Given the description of an element on the screen output the (x, y) to click on. 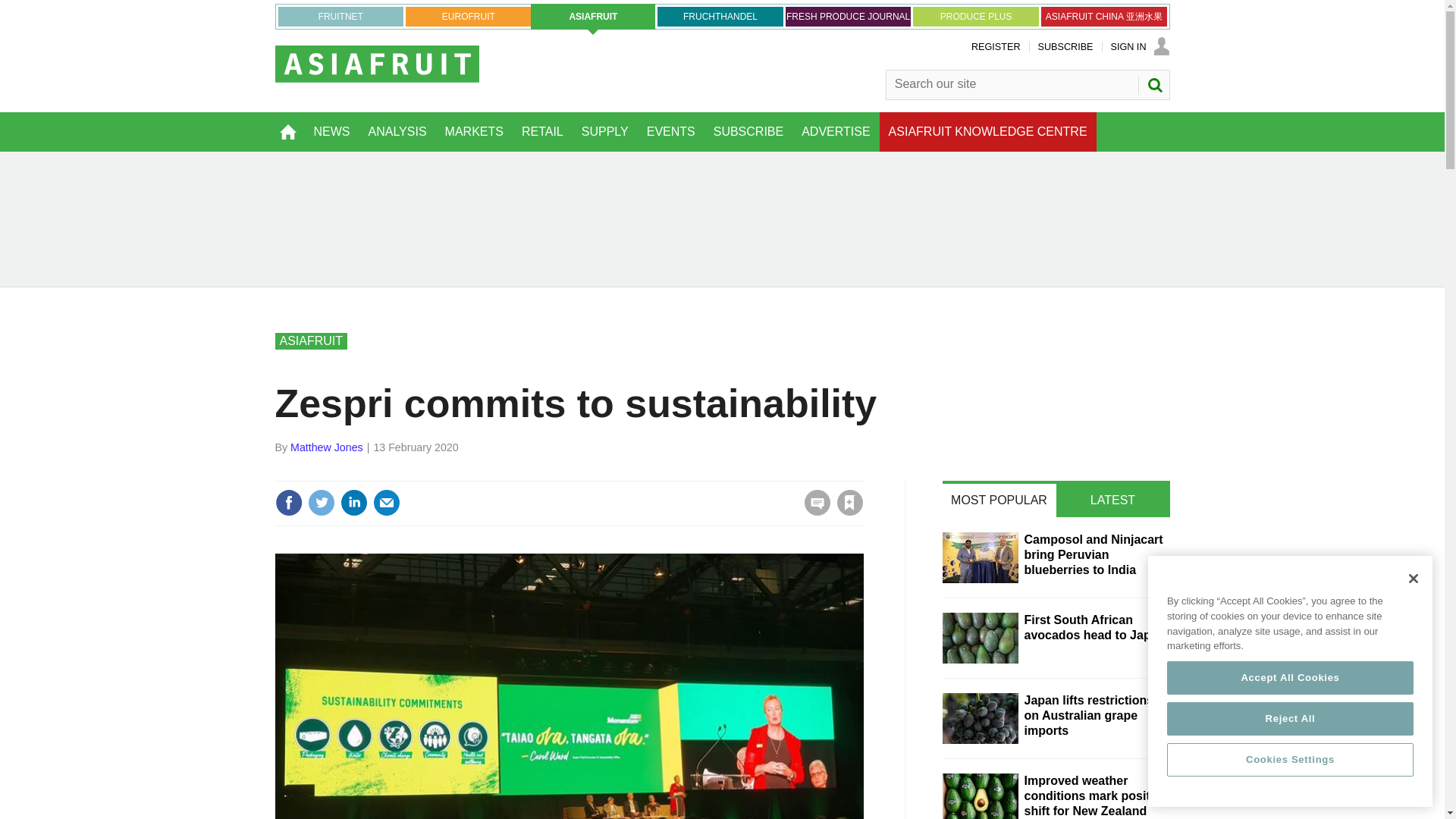
PRODUCE PLUS (975, 16)
EUROFRUIT (468, 16)
SUBSCRIBE (1065, 46)
FRESH PRODUCE JOURNAL (848, 16)
3rd party ad content (722, 218)
Share this on Linked in (352, 502)
MARKETS (473, 131)
Share this on Facebook (288, 502)
No comments (812, 511)
RETAIL (542, 131)
